Given the description of an element on the screen output the (x, y) to click on. 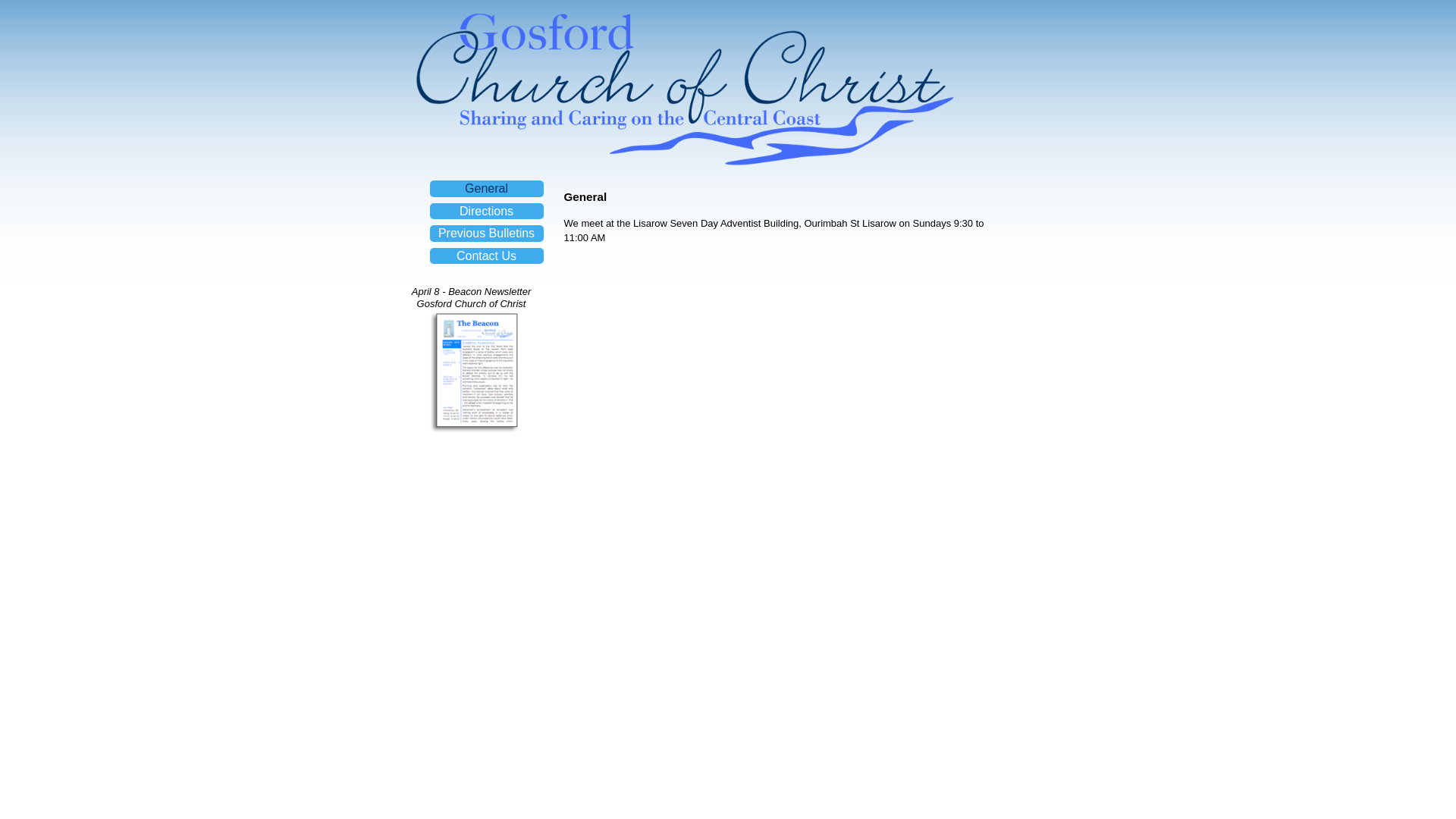
Directions Element type: text (486, 210)
Previous Bulletins Element type: text (486, 232)
Contact Us Element type: text (486, 255)
